Given the description of an element on the screen output the (x, y) to click on. 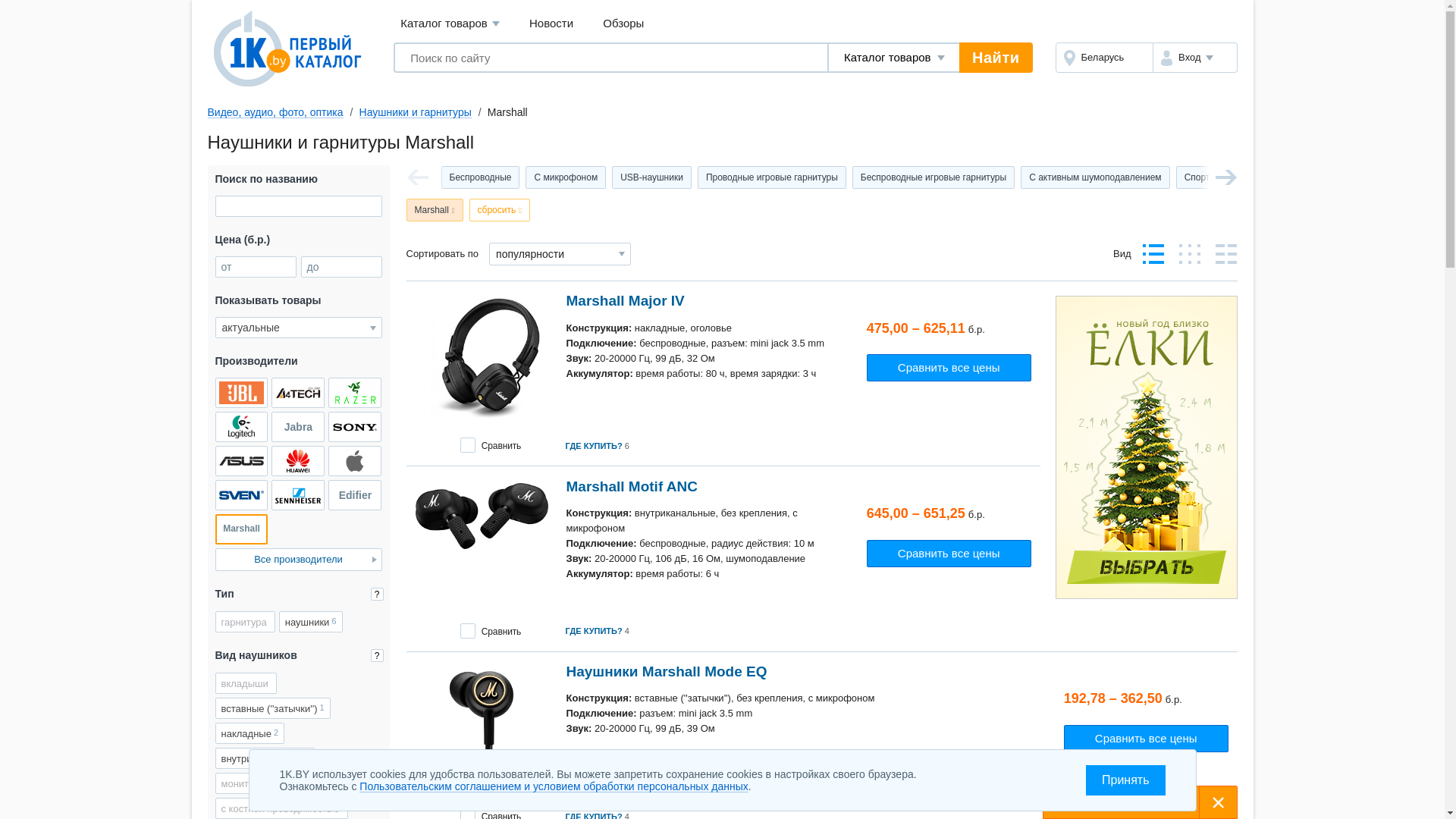
Marshall Motif ANC Element type: hover (481, 516)
Marshall Major IV Element type: text (624, 300)
? Element type: text (376, 593)
Marshall Element type: text (434, 209)
Marshall Element type: text (241, 529)
? Element type: text (376, 655)
Edifier Element type: text (354, 495)
Marshall Major IV Element type: hover (481, 358)
Marshall Motif ANC Element type: text (630, 486)
Marshall Mode EQ Element type: hover (481, 728)
Jabra Element type: text (297, 426)
